Given the description of an element on the screen output the (x, y) to click on. 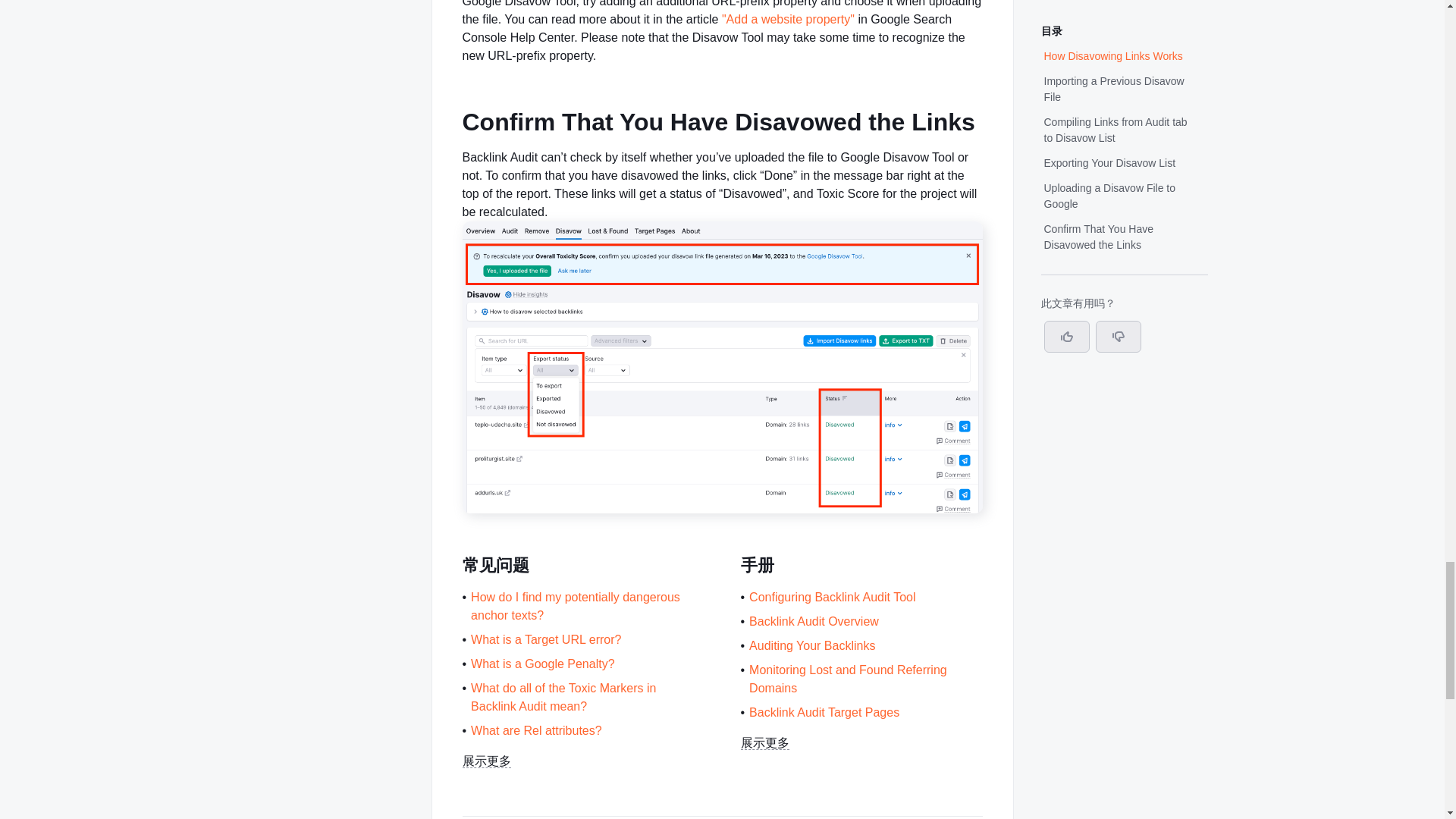
How to confirm that you have disavowed the links. (722, 508)
